Given the description of an element on the screen output the (x, y) to click on. 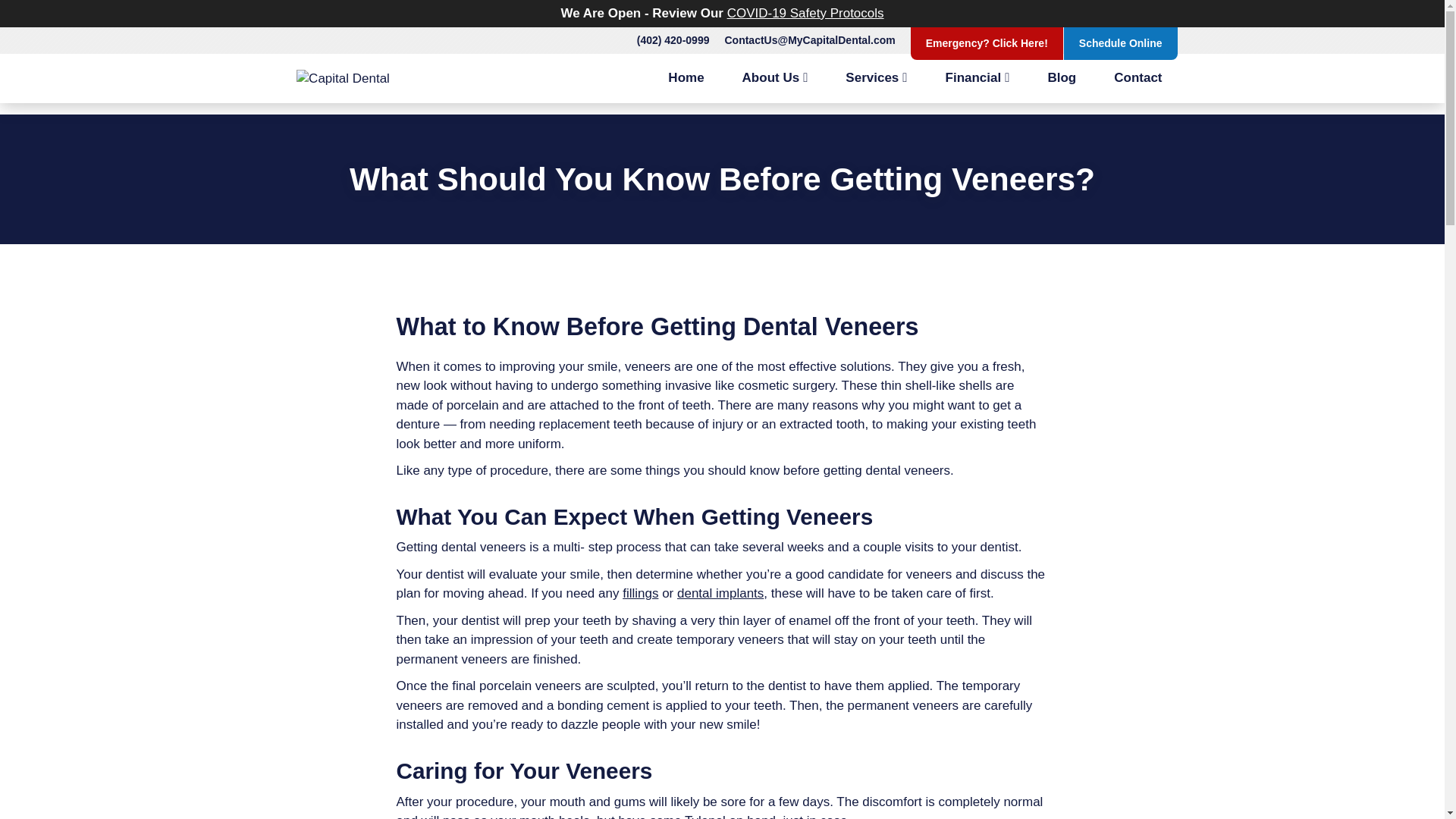
Blog (1061, 78)
Financial (977, 78)
Services (875, 78)
Emergency? Click Here! (986, 43)
Contact (1137, 78)
About Us (775, 78)
Home (685, 78)
Schedule Online (1120, 43)
COVID-19 Safety Protocols (804, 12)
